Given the description of an element on the screen output the (x, y) to click on. 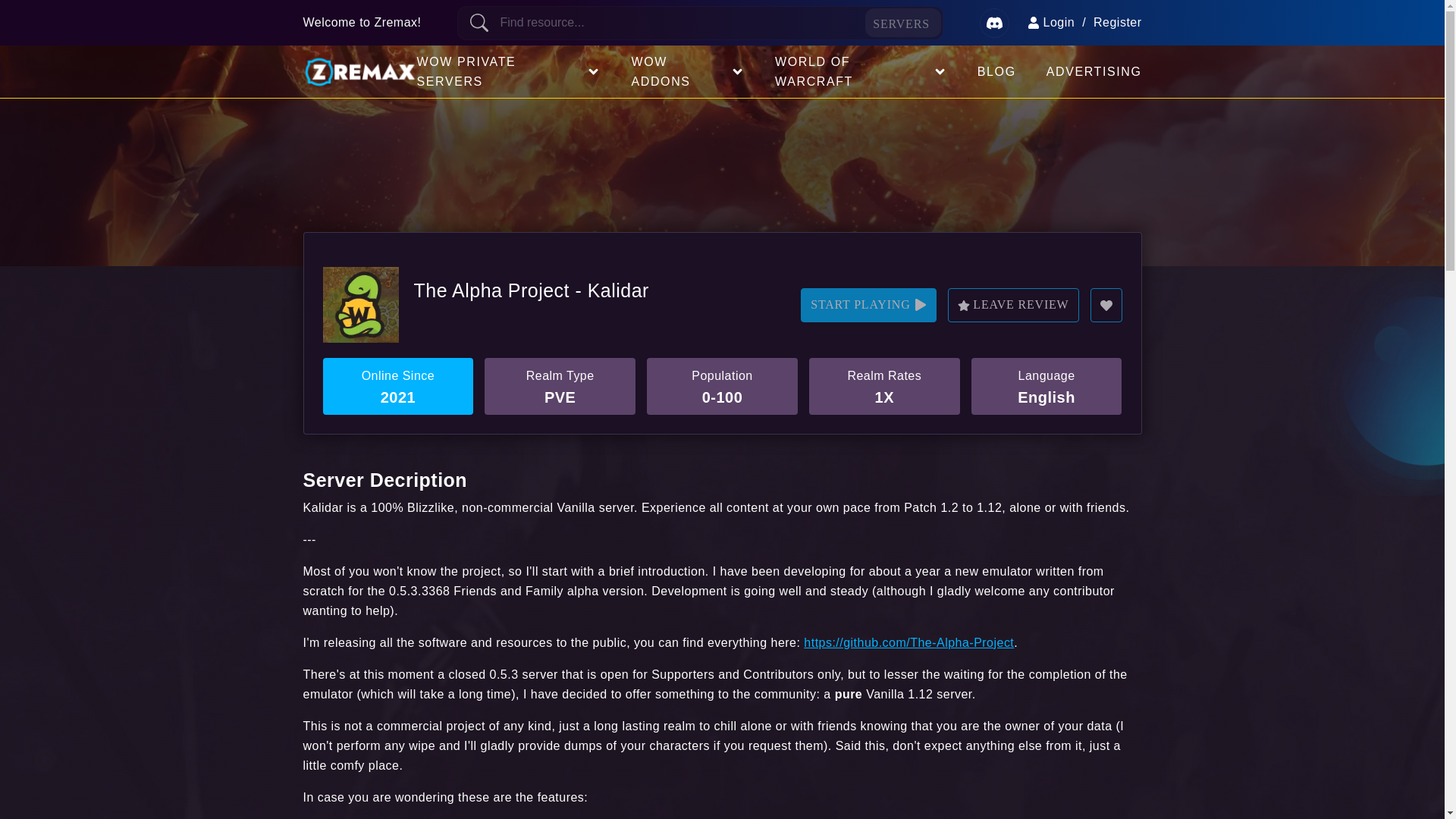
ADVERTISING (1093, 71)
BLOG (996, 71)
SERVERS (902, 22)
servers (902, 22)
START PLAYING (868, 305)
Register (1117, 22)
WORLD OF WARCRAFT (853, 70)
WOW PRIVATE SERVERS (501, 70)
WOW ADDONS (679, 70)
LEAVE REVIEW (1012, 305)
